Given the description of an element on the screen output the (x, y) to click on. 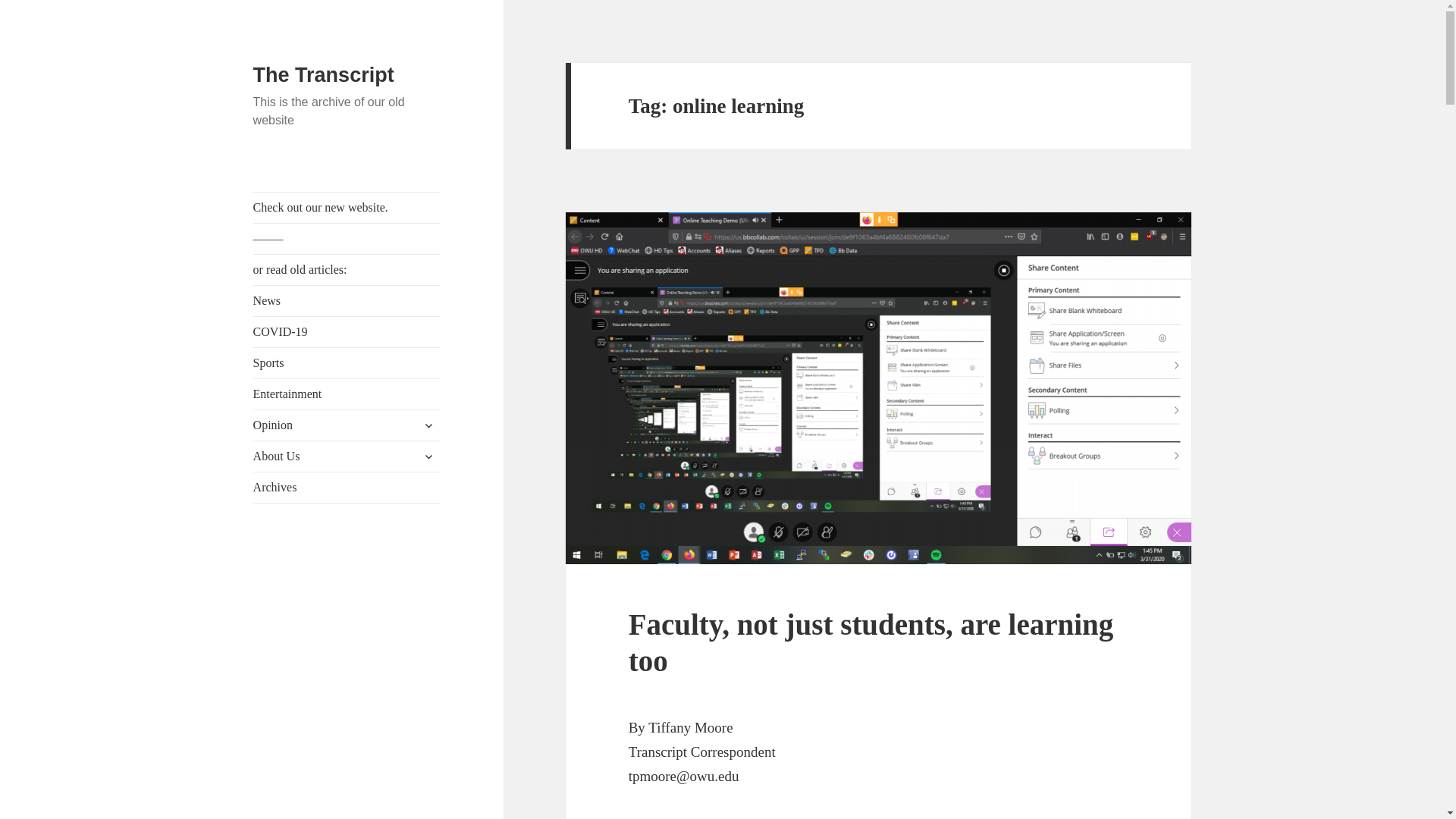
The Transcript (323, 74)
Sports (347, 363)
Opinion (347, 425)
COVID-19 (347, 331)
expand child menu (428, 456)
Faculty, not just students, are learning too (870, 642)
News (347, 300)
Archives (347, 487)
About Us (347, 456)
expand child menu (428, 425)
Entertainment (347, 394)
or read old articles: (347, 269)
Check out our new website. (347, 207)
